Given the description of an element on the screen output the (x, y) to click on. 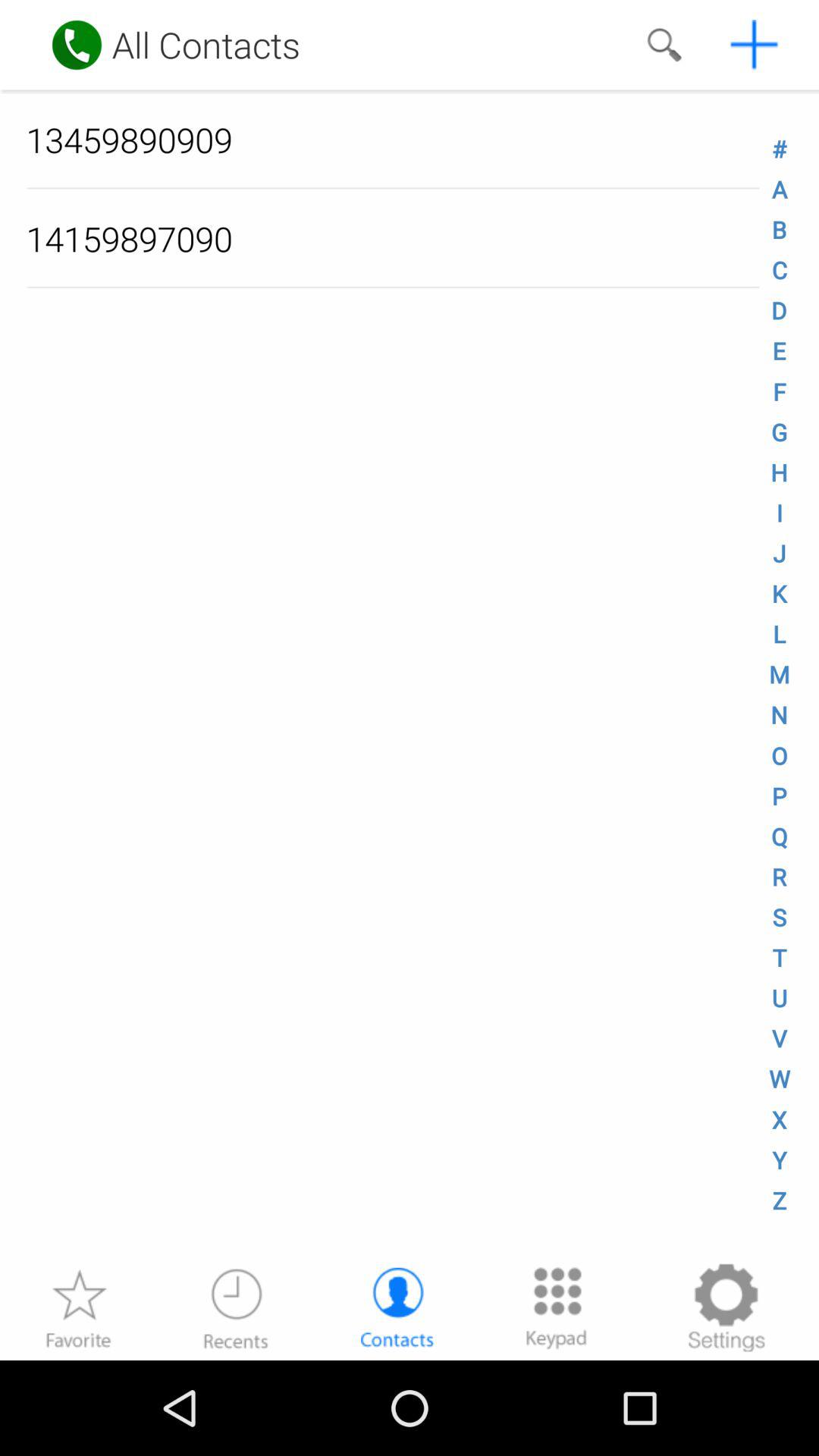
save as favorite (78, 1307)
